Given the description of an element on the screen output the (x, y) to click on. 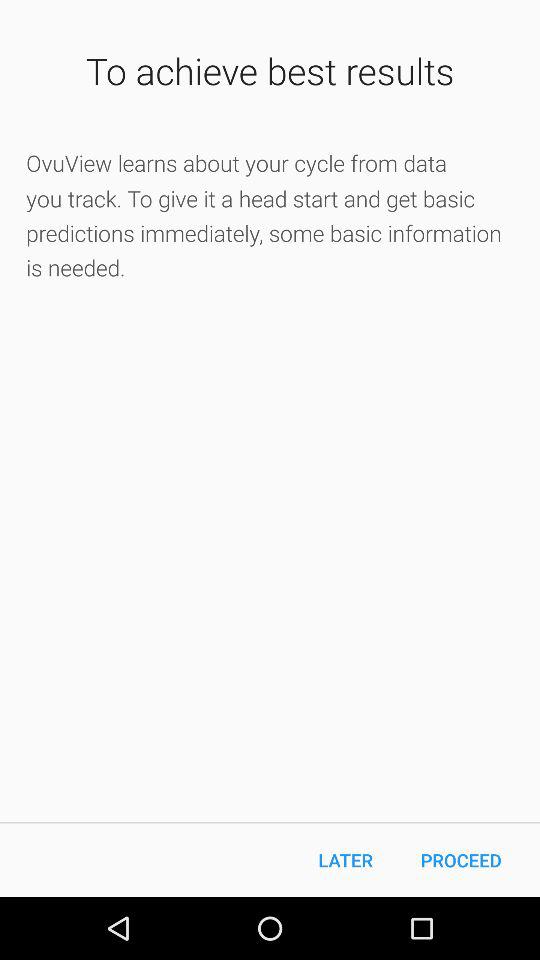
launch item to the left of proceed item (345, 859)
